Given the description of an element on the screen output the (x, y) to click on. 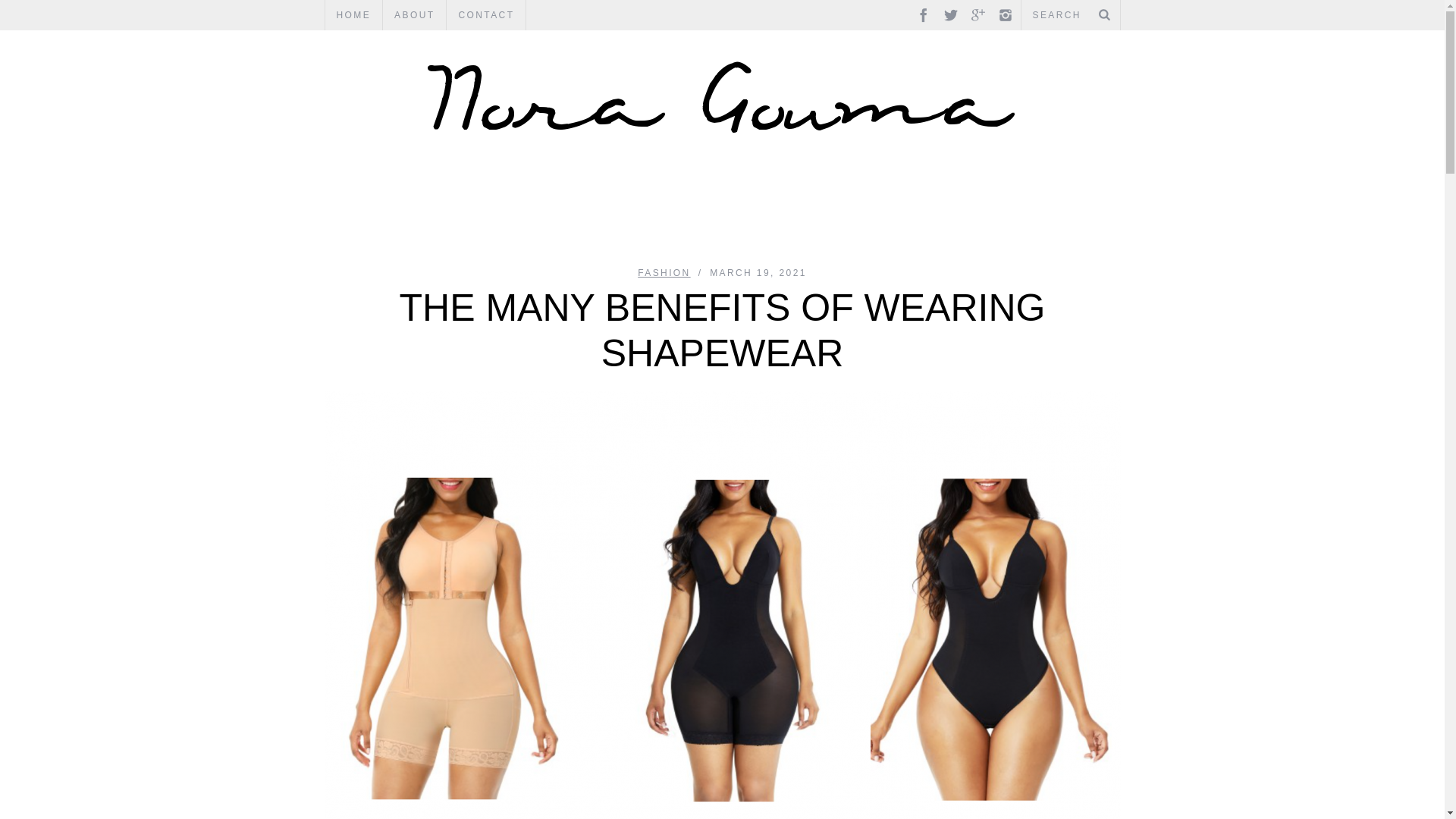
ABOUT (413, 14)
Search (1070, 15)
 -  (722, 96)
HOME (352, 14)
CONTACT (485, 14)
